Given the description of an element on the screen output the (x, y) to click on. 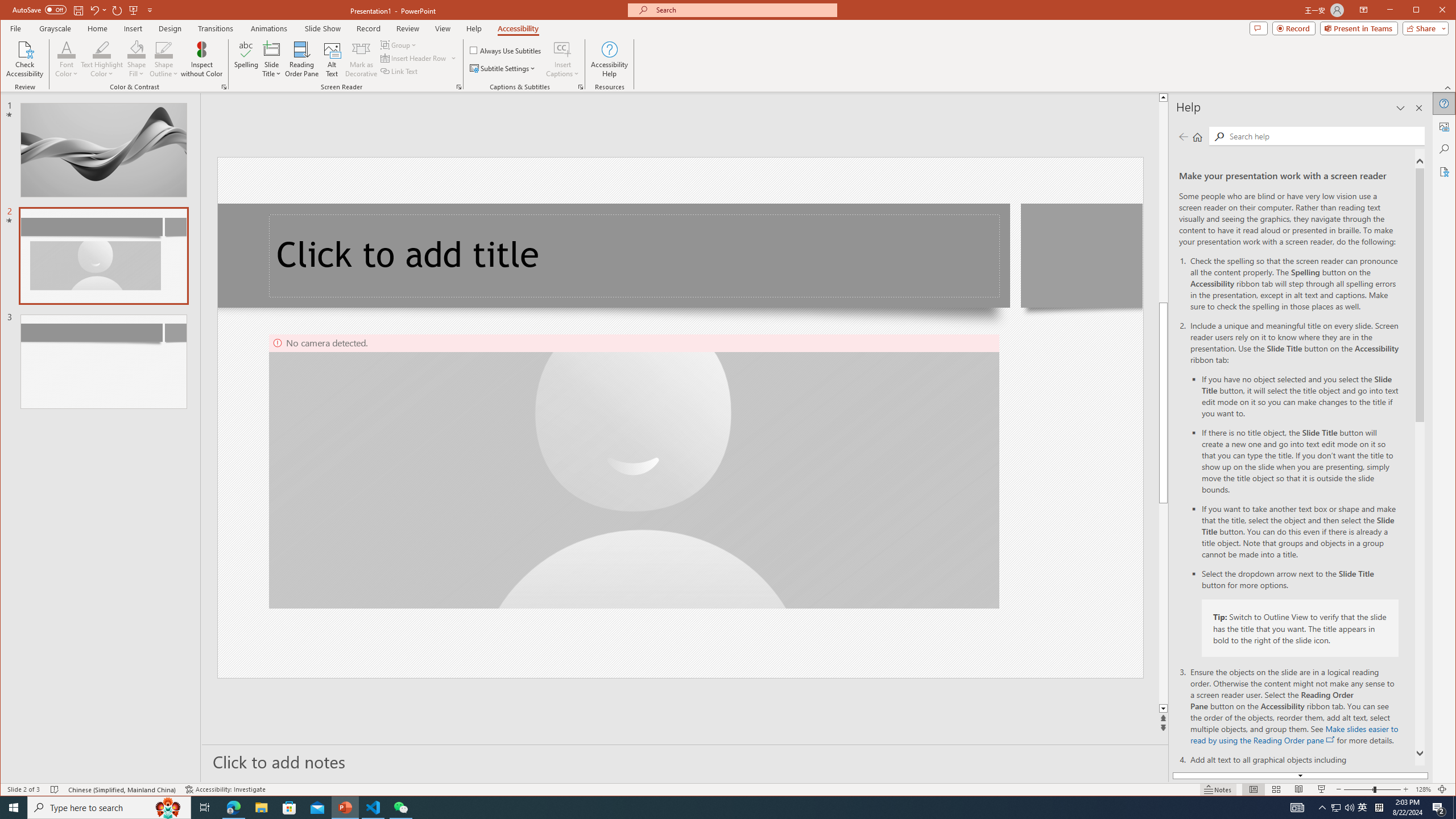
Subtitle Settings (502, 68)
Q2790: 100% (1349, 807)
WeChat - 1 running window (400, 807)
Close pane (1418, 107)
Shape Fill (136, 59)
Font Color (66, 48)
Insert Captions (562, 59)
